Given the description of an element on the screen output the (x, y) to click on. 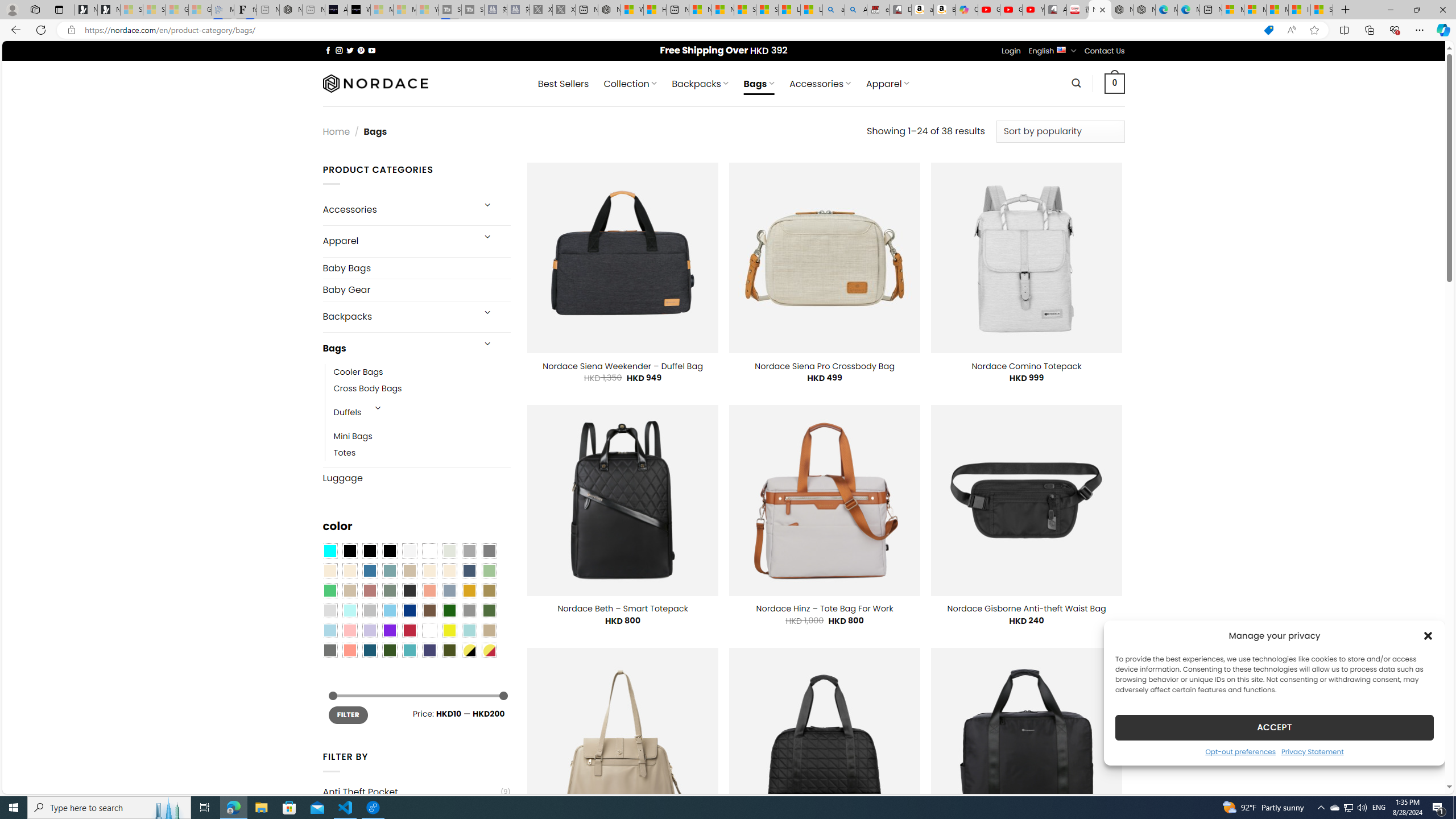
Blue Sage (389, 570)
Emerald Green (329, 590)
Cross Body Bags (367, 388)
Yellow-Black (468, 649)
Sage (389, 590)
Amazon Echo Dot PNG - Search Images (856, 9)
Mini Bags (352, 436)
Hale Navy (468, 570)
Teal (408, 649)
Light Gray (329, 610)
Clear (429, 550)
